Given the description of an element on the screen output the (x, y) to click on. 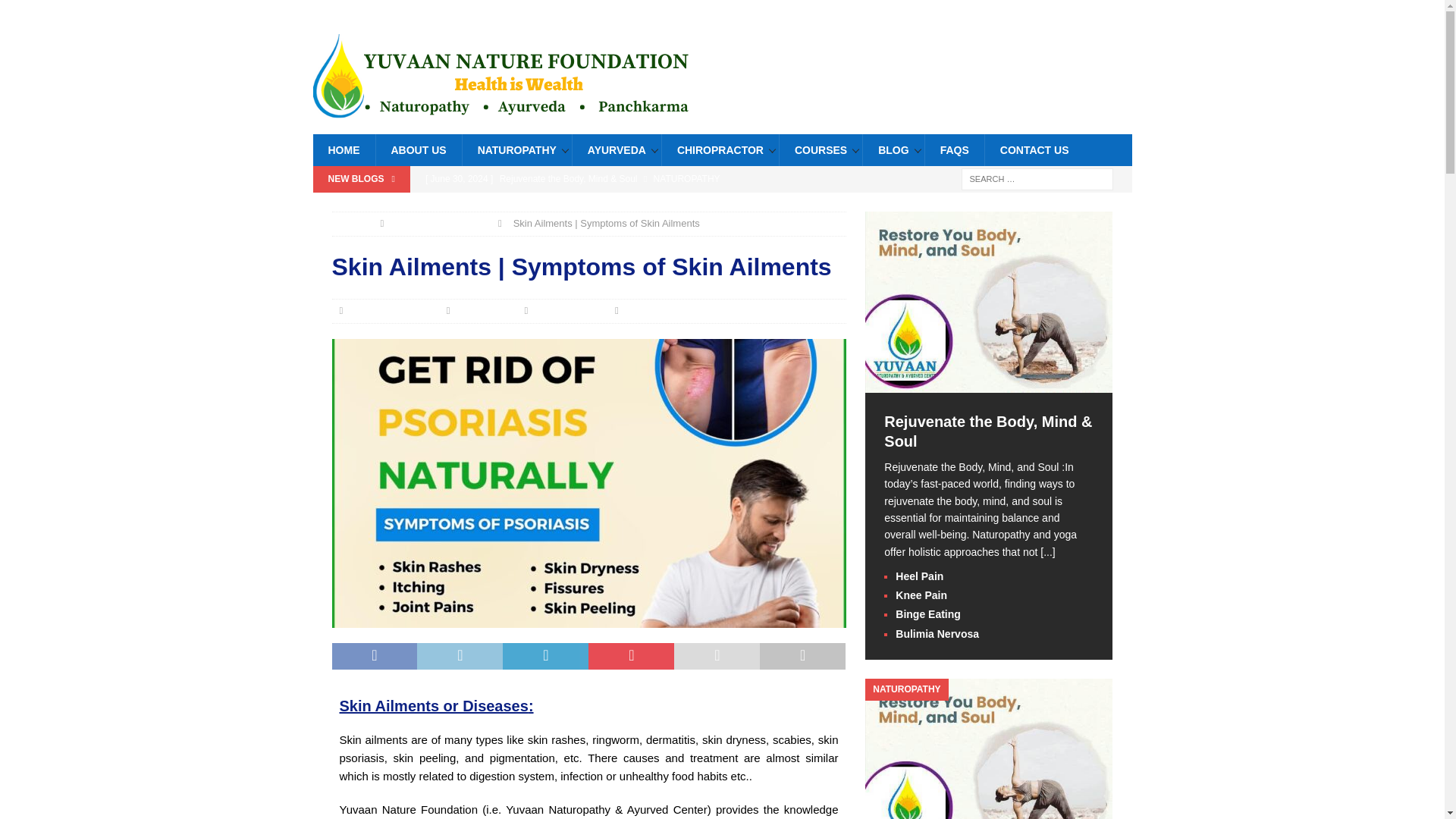
CONTACT US (1034, 150)
Heel Pain (631, 204)
FAQS (954, 150)
COURSES (819, 150)
BLOG (892, 150)
CHIROPRACTOR (719, 150)
ABOUT US (417, 150)
AYURVEDA (616, 150)
NATUROPATHY (516, 150)
HOME (343, 150)
